Given the description of an element on the screen output the (x, y) to click on. 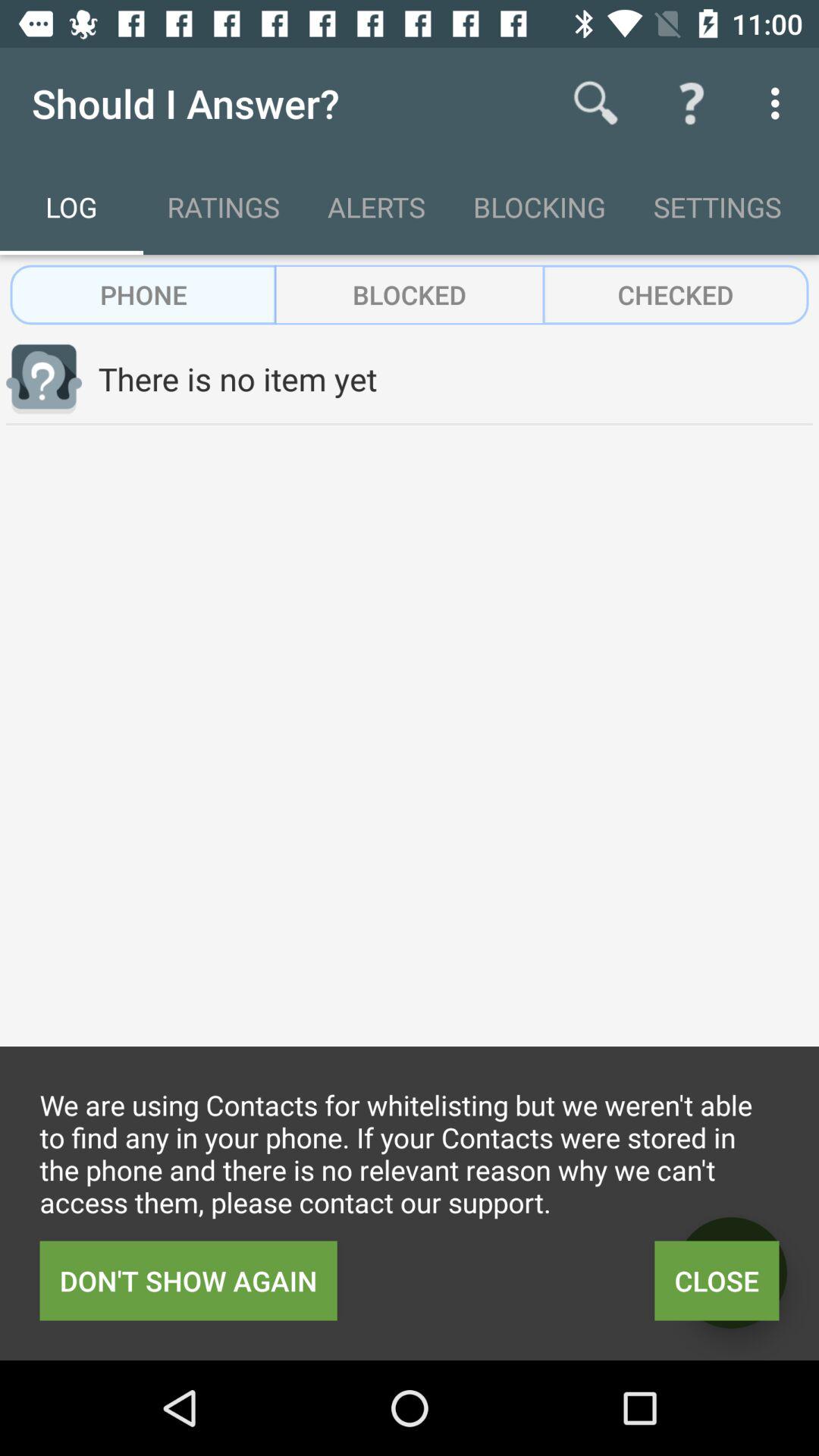
press the icon above there is no icon (409, 294)
